Given the description of an element on the screen output the (x, y) to click on. 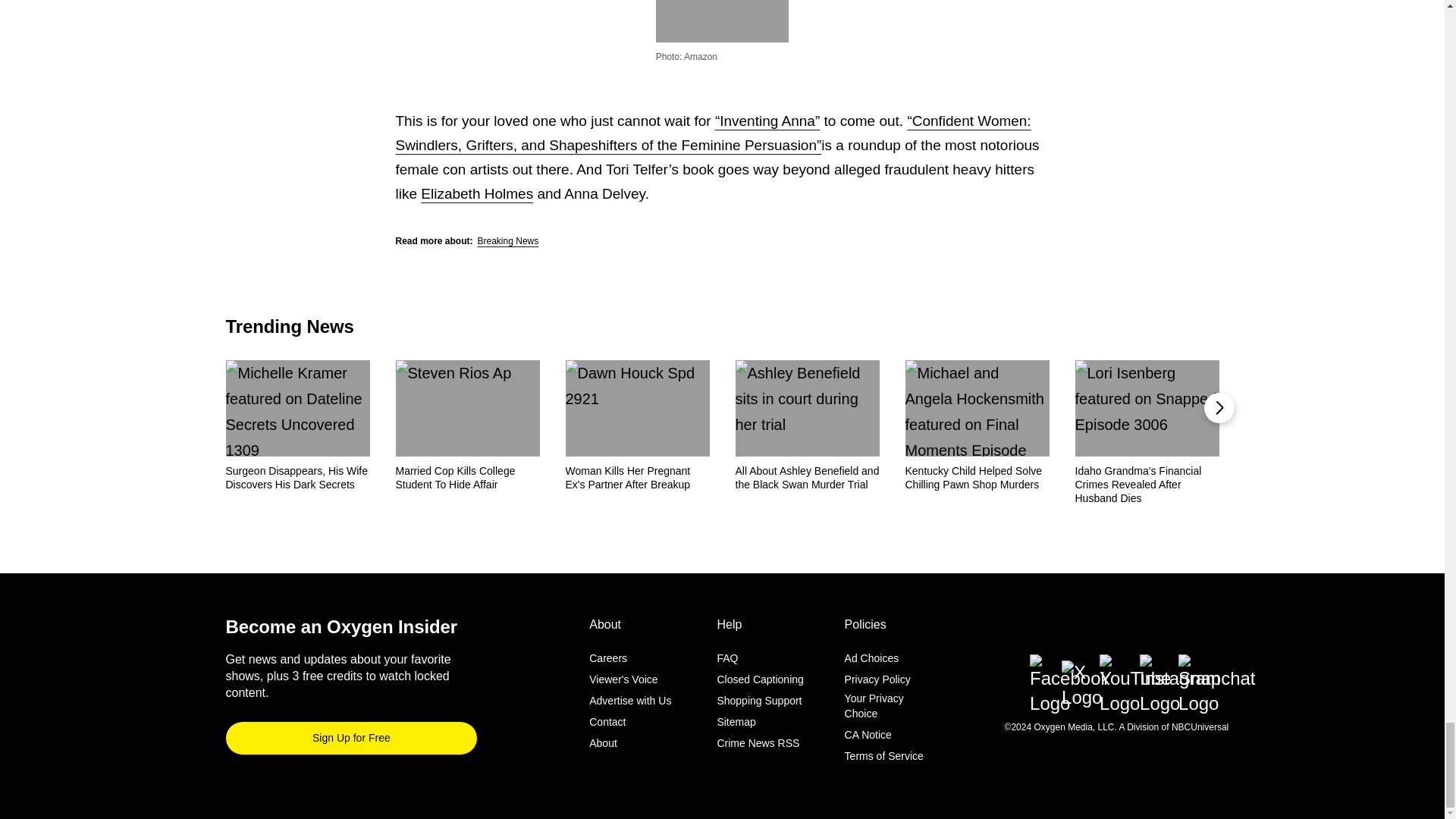
Advertise with Us (630, 700)
